Given the description of an element on the screen output the (x, y) to click on. 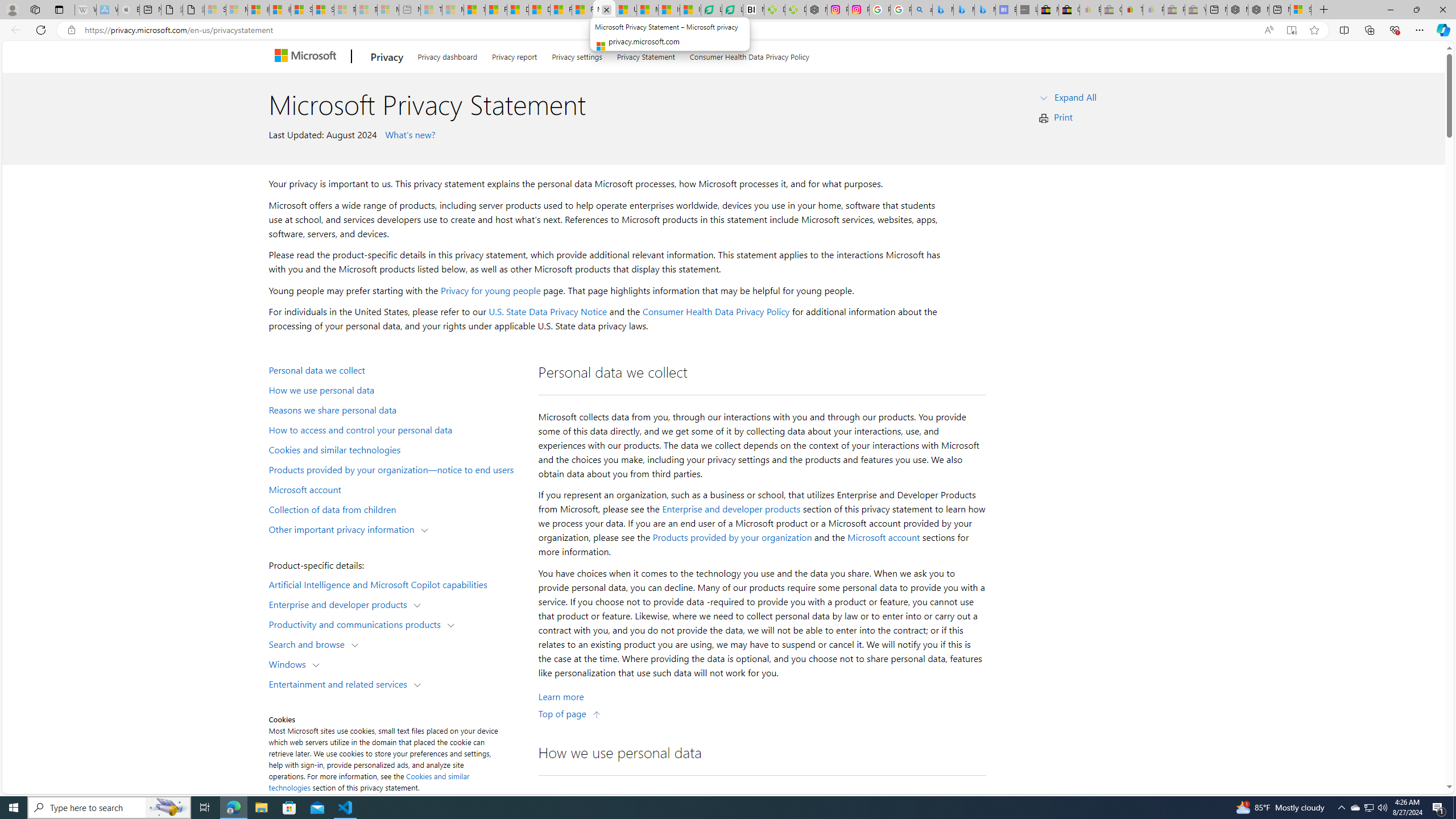
Microsoft Bing Travel - Flights from Hong Kong to Bangkok (942, 9)
Privacy report (514, 54)
Payments Terms of Use | eBay.com - Sleeping (1153, 9)
How we use personal data (395, 389)
Consumer Health Data Privacy Policy (748, 54)
Privacy report (514, 54)
Privacy Statement (645, 54)
Privacy settings (576, 54)
Buy iPad - Apple - Sleeping (128, 9)
